Given the description of an element on the screen output the (x, y) to click on. 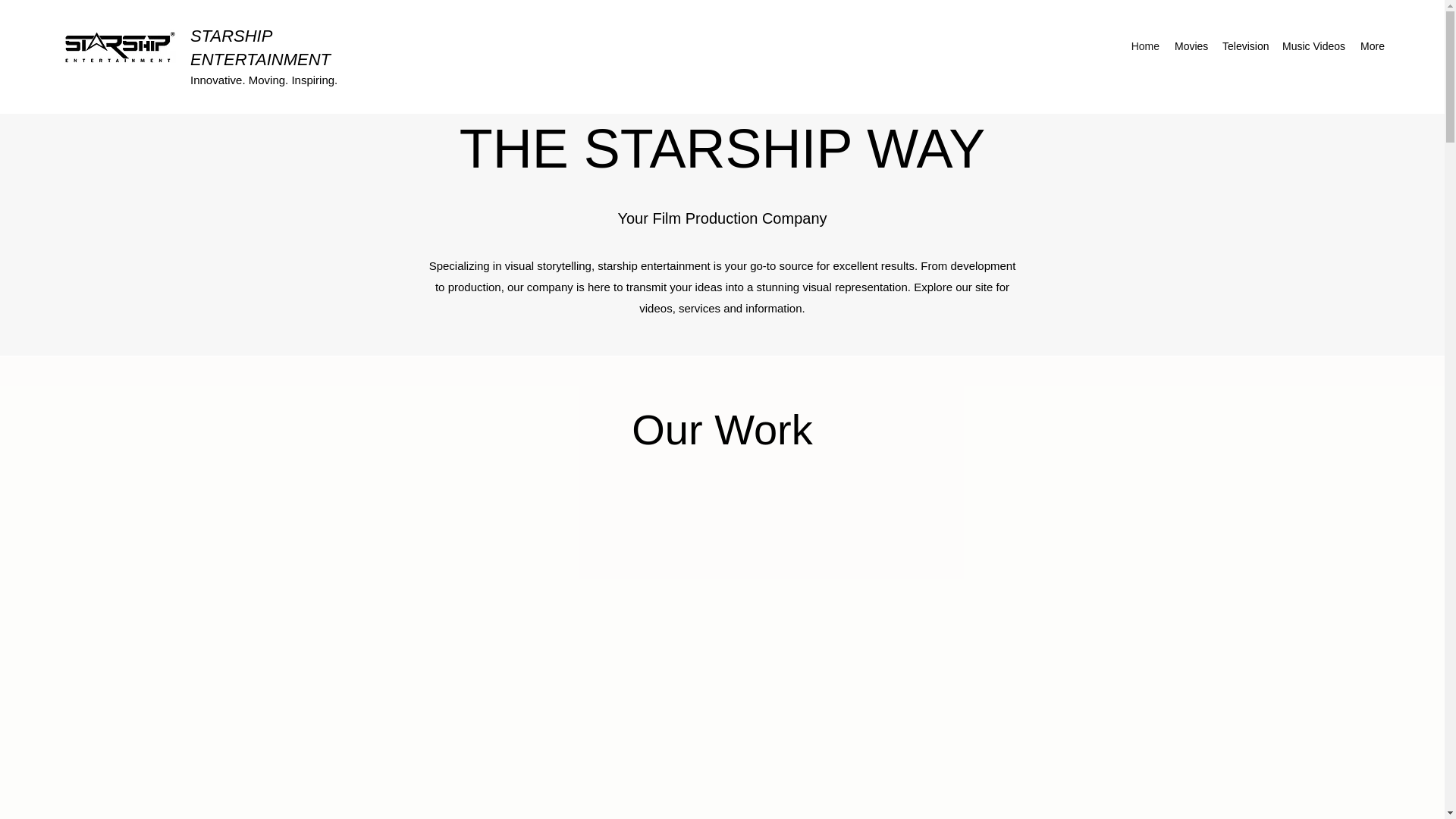
STARSHIP ENTERTAINMENT (260, 47)
Music Videos (1313, 46)
Television (1244, 46)
Home (1144, 46)
Movies (1190, 46)
